Given the description of an element on the screen output the (x, y) to click on. 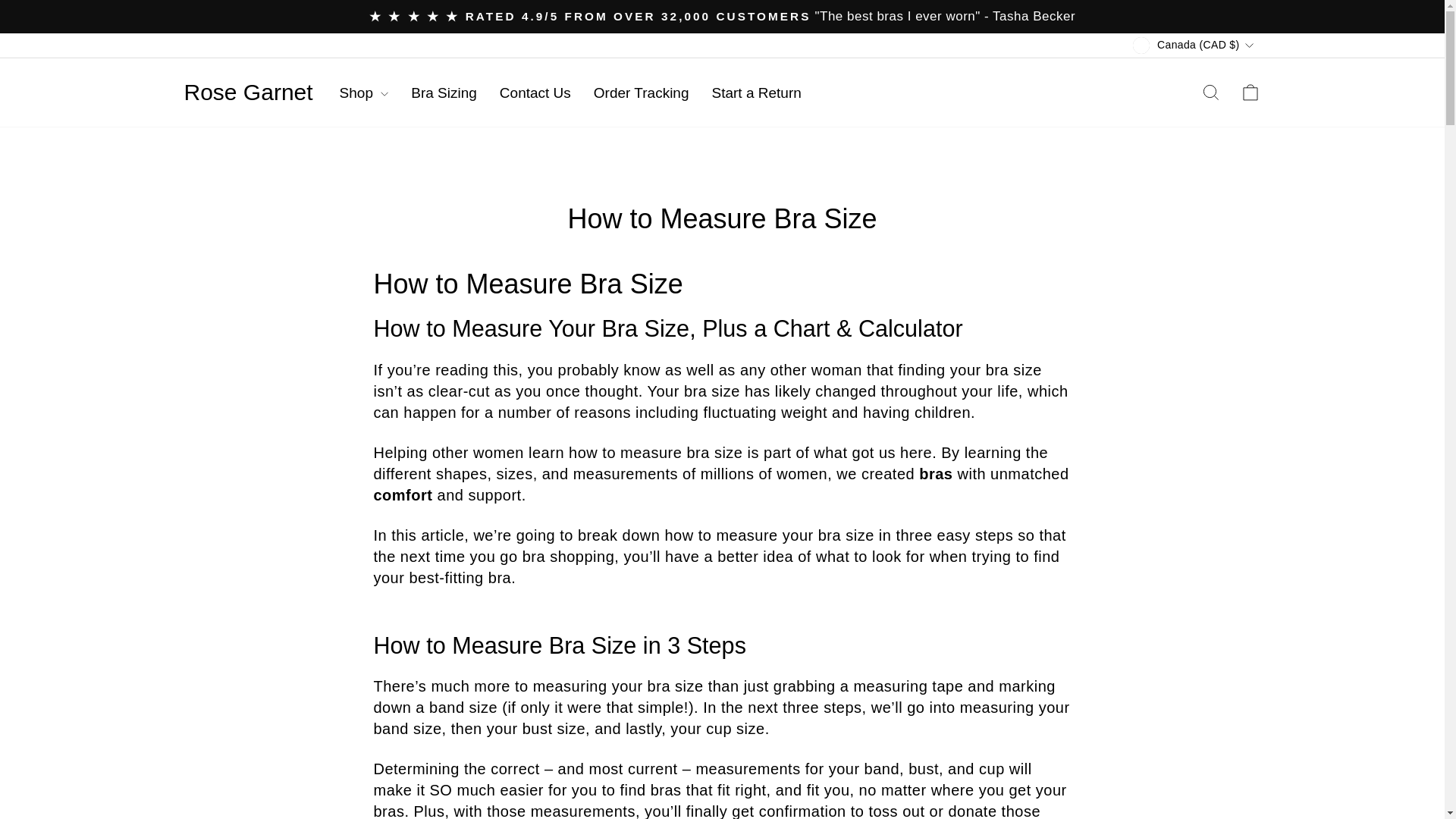
icon-bag-minimal (1249, 92)
icon-search (1210, 92)
